Given the description of an element on the screen output the (x, y) to click on. 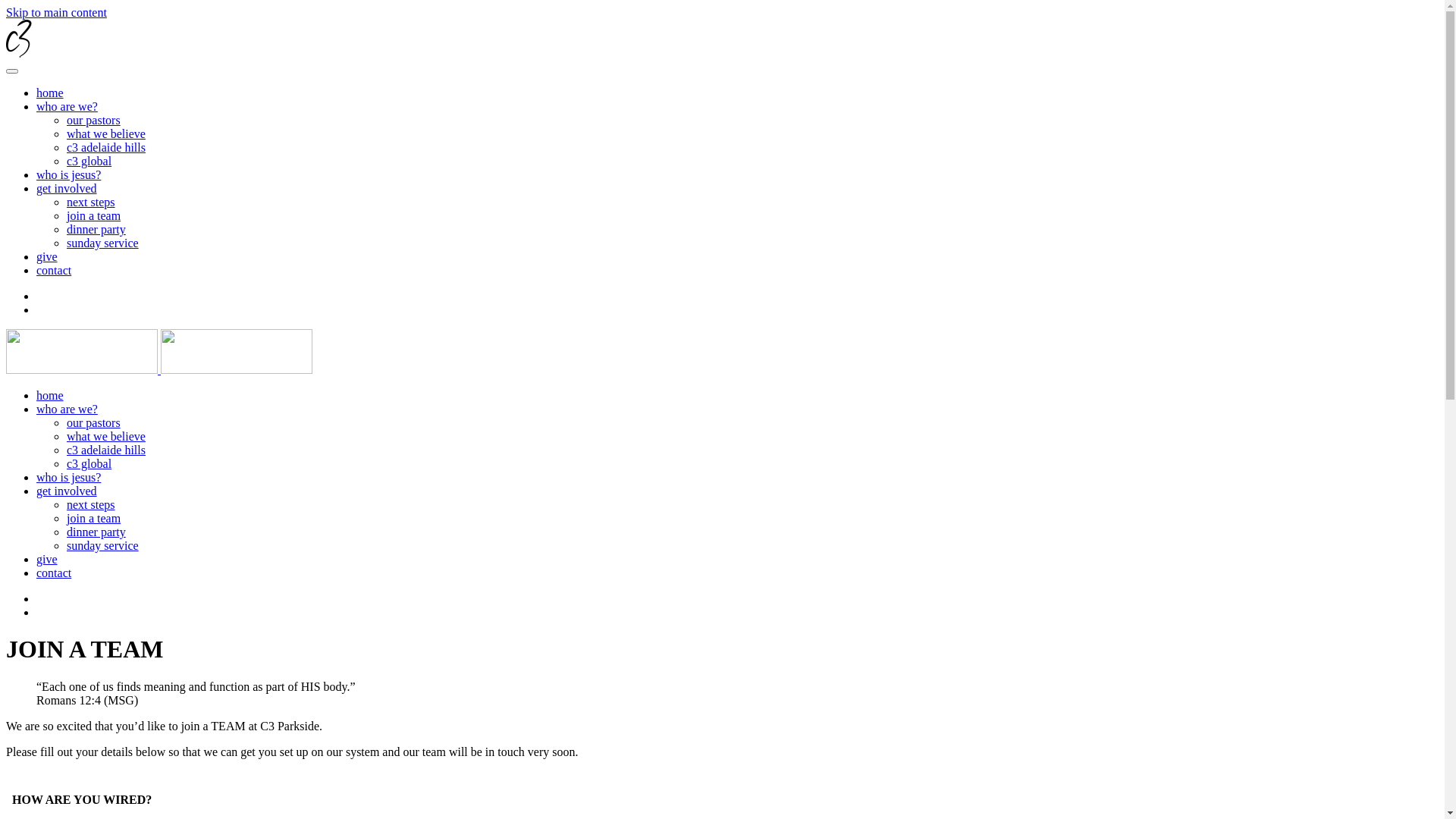
give Element type: text (46, 558)
sunday service Element type: text (102, 242)
dinner party Element type: text (95, 531)
who is jesus? Element type: text (68, 174)
contact Element type: text (53, 269)
get involved Element type: text (66, 490)
next steps Element type: text (90, 504)
c3 adelaide hills Element type: text (105, 449)
get involved Element type: text (66, 188)
join a team Element type: text (93, 215)
c3 global Element type: text (88, 160)
who is jesus? Element type: text (68, 476)
c3 global Element type: text (88, 463)
our pastors Element type: text (93, 119)
home Element type: text (49, 395)
next steps Element type: text (90, 201)
join a team Element type: text (93, 517)
c3 adelaide hills Element type: text (105, 147)
Skip to main content Element type: text (56, 12)
who are we? Element type: text (66, 408)
our pastors Element type: text (93, 422)
give Element type: text (46, 256)
what we believe Element type: text (105, 435)
sunday service Element type: text (102, 545)
what we believe Element type: text (105, 133)
who are we? Element type: text (66, 106)
dinner party Element type: text (95, 228)
contact Element type: text (53, 572)
home Element type: text (49, 92)
